Given the description of an element on the screen output the (x, y) to click on. 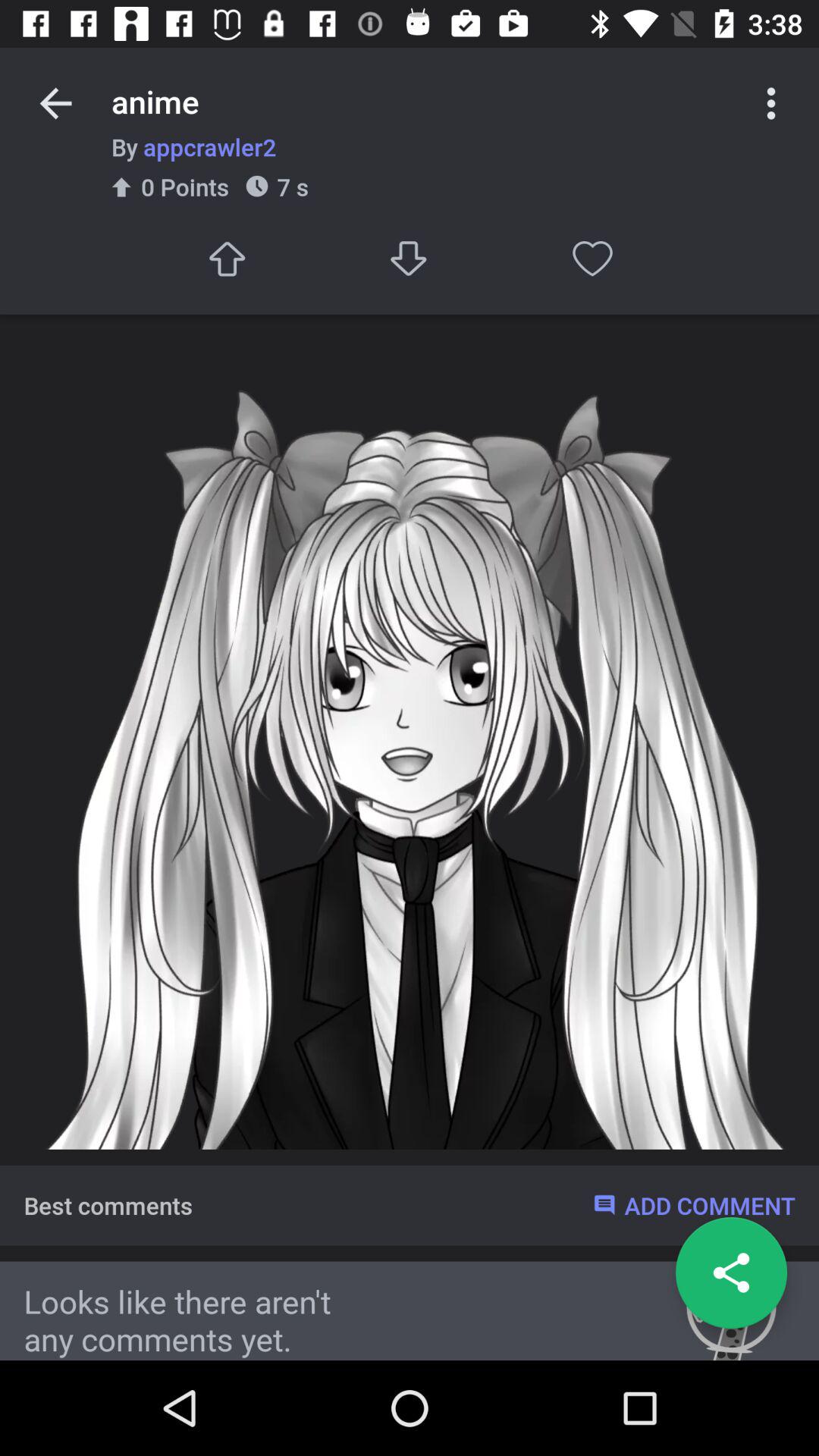
share button (731, 1272)
